Given the description of an element on the screen output the (x, y) to click on. 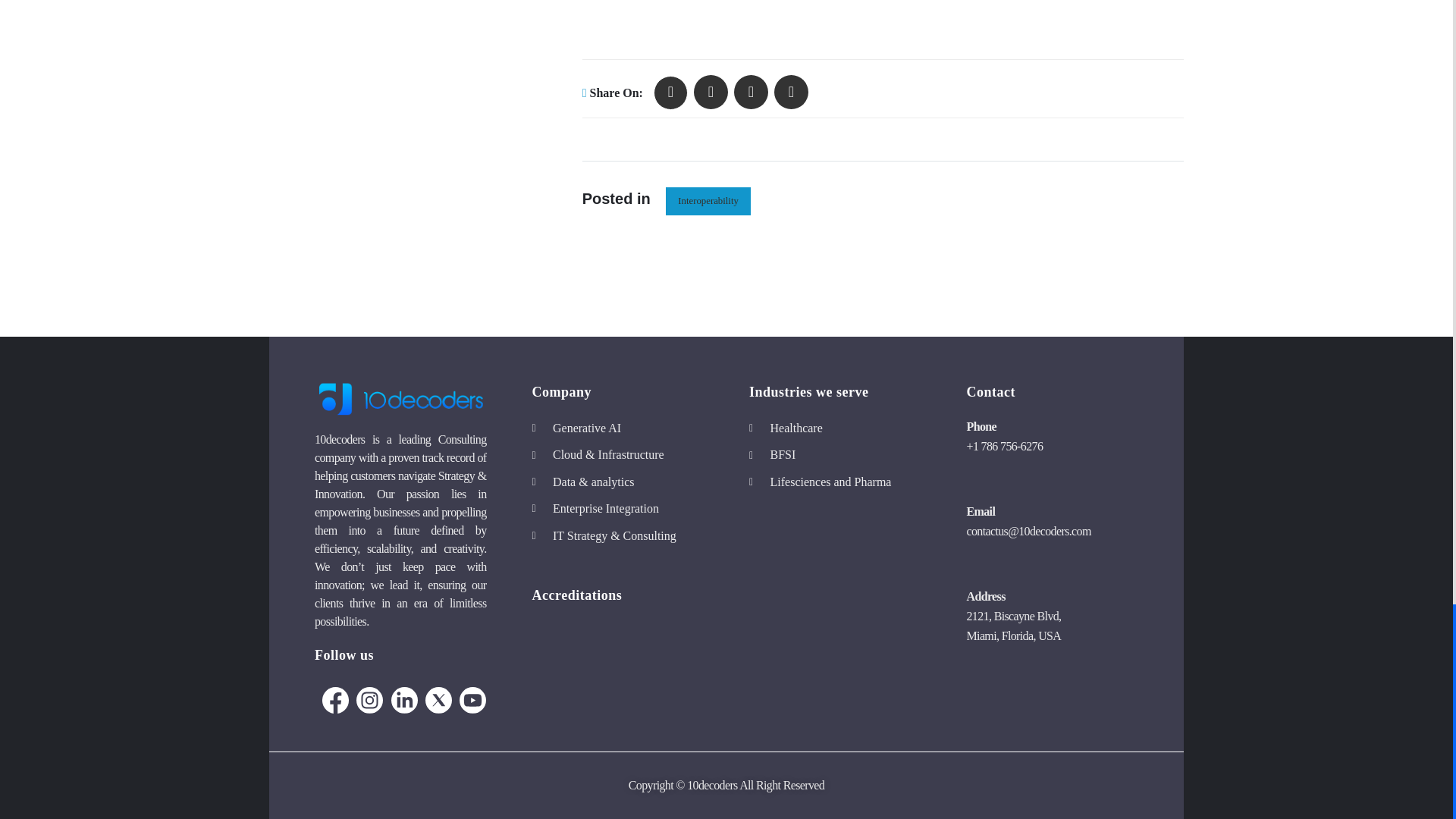
Share on Email (791, 91)
Share on Facebook (711, 91)
Share on LinkedIn (750, 91)
Share on Twitter (670, 92)
